Given the description of an element on the screen output the (x, y) to click on. 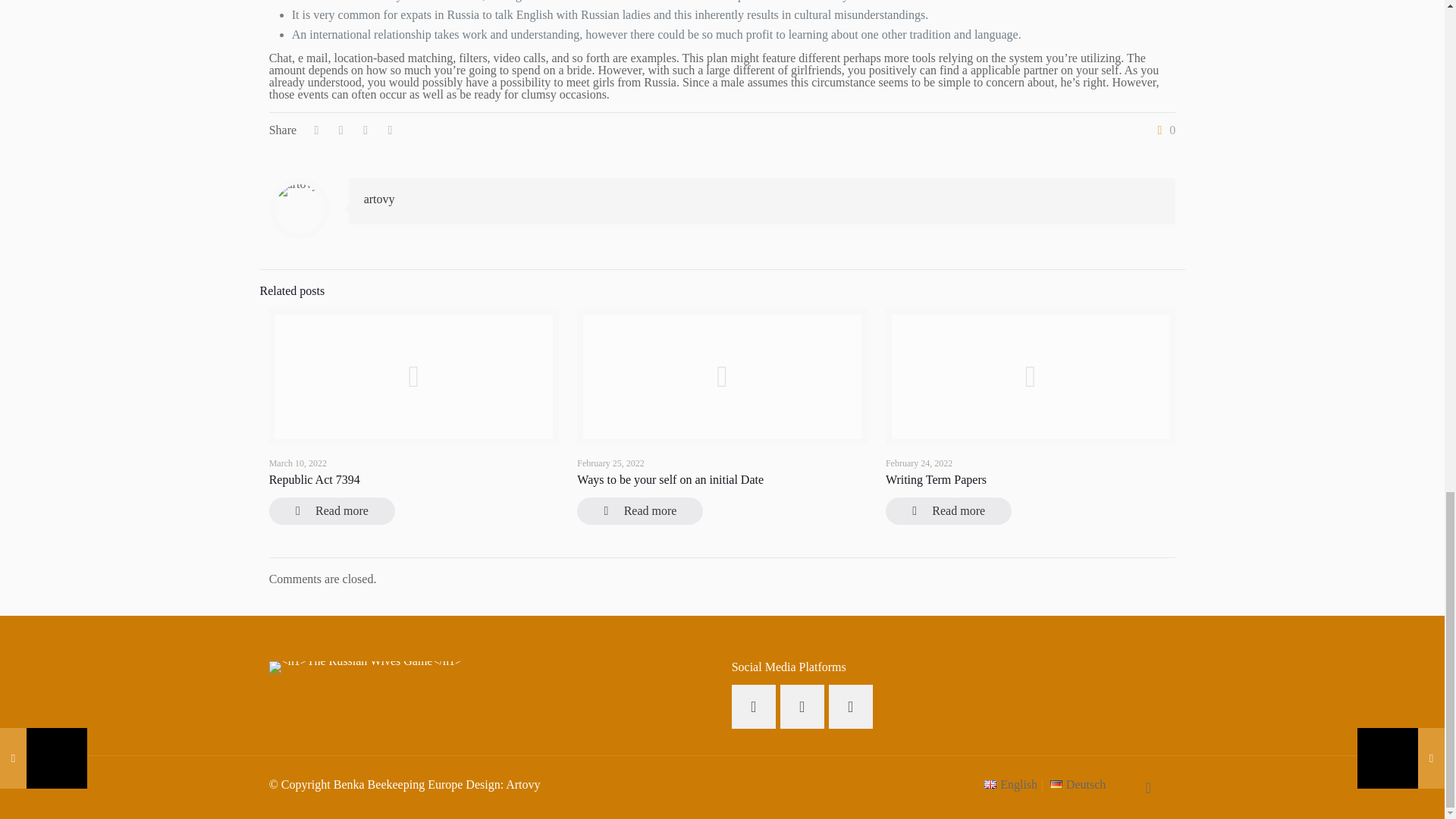
Read more (331, 510)
0 (1162, 130)
artovy (379, 198)
Read more (639, 510)
Republic Act 7394 (314, 479)
Ways to be your self on an initial Date (669, 479)
